Given the description of an element on the screen output the (x, y) to click on. 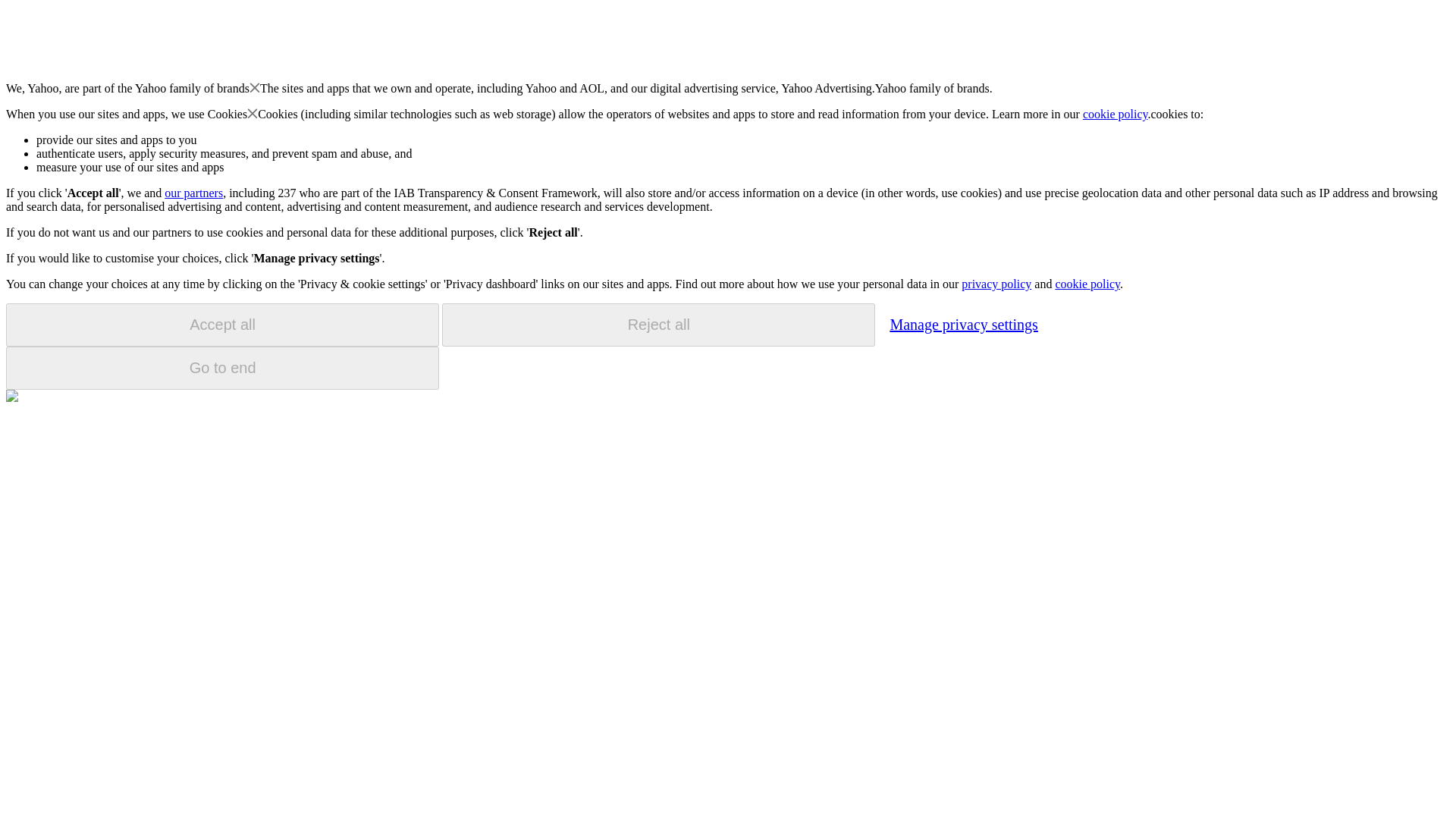
Go to end (222, 367)
Accept all (222, 324)
cookie policy (1086, 283)
privacy policy (995, 283)
our partners (193, 192)
cookie policy (1115, 113)
Manage privacy settings (963, 323)
Reject all (658, 324)
